Given the description of an element on the screen output the (x, y) to click on. 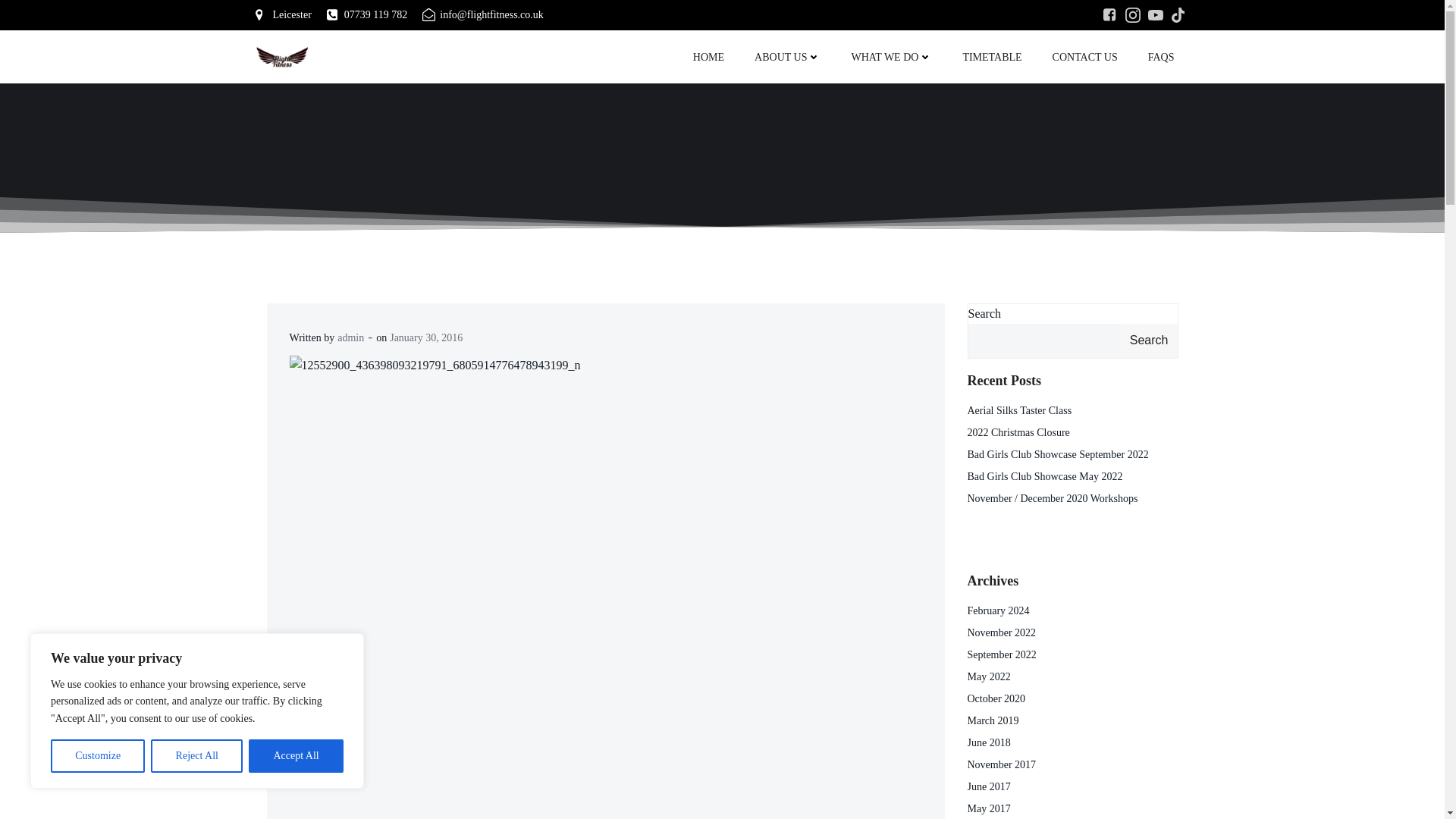
07739 119 782 (366, 15)
Flight Fitness Latest Timetable (992, 56)
Customize (97, 756)
ABOUT US (787, 56)
WHAT WE DO (890, 56)
HOME (708, 56)
Accept All (295, 756)
Reject All (197, 756)
Leicester (282, 15)
